Given the description of an element on the screen output the (x, y) to click on. 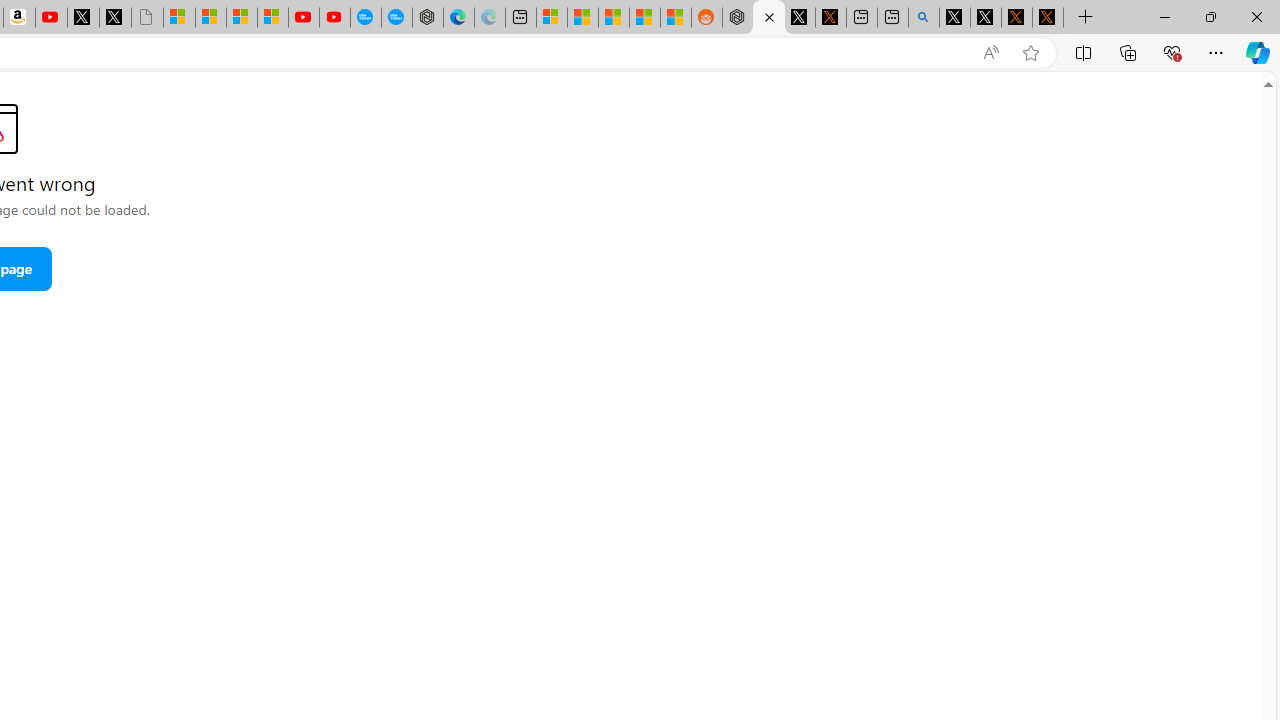
Shanghai, China hourly forecast | Microsoft Weather (613, 17)
Gloom - YouTube (303, 17)
Log in to X / X (799, 17)
YouTube Kids - An App Created for Kids to Explore Content (334, 17)
GitHub (@github) / X (985, 17)
Shanghai, China Weather trends | Microsoft Weather (675, 17)
github - Search (923, 17)
The most popular Google 'how to' searches (396, 17)
Day 1: Arriving in Yemen (surreal to be here) - YouTube (50, 17)
